Given the description of an element on the screen output the (x, y) to click on. 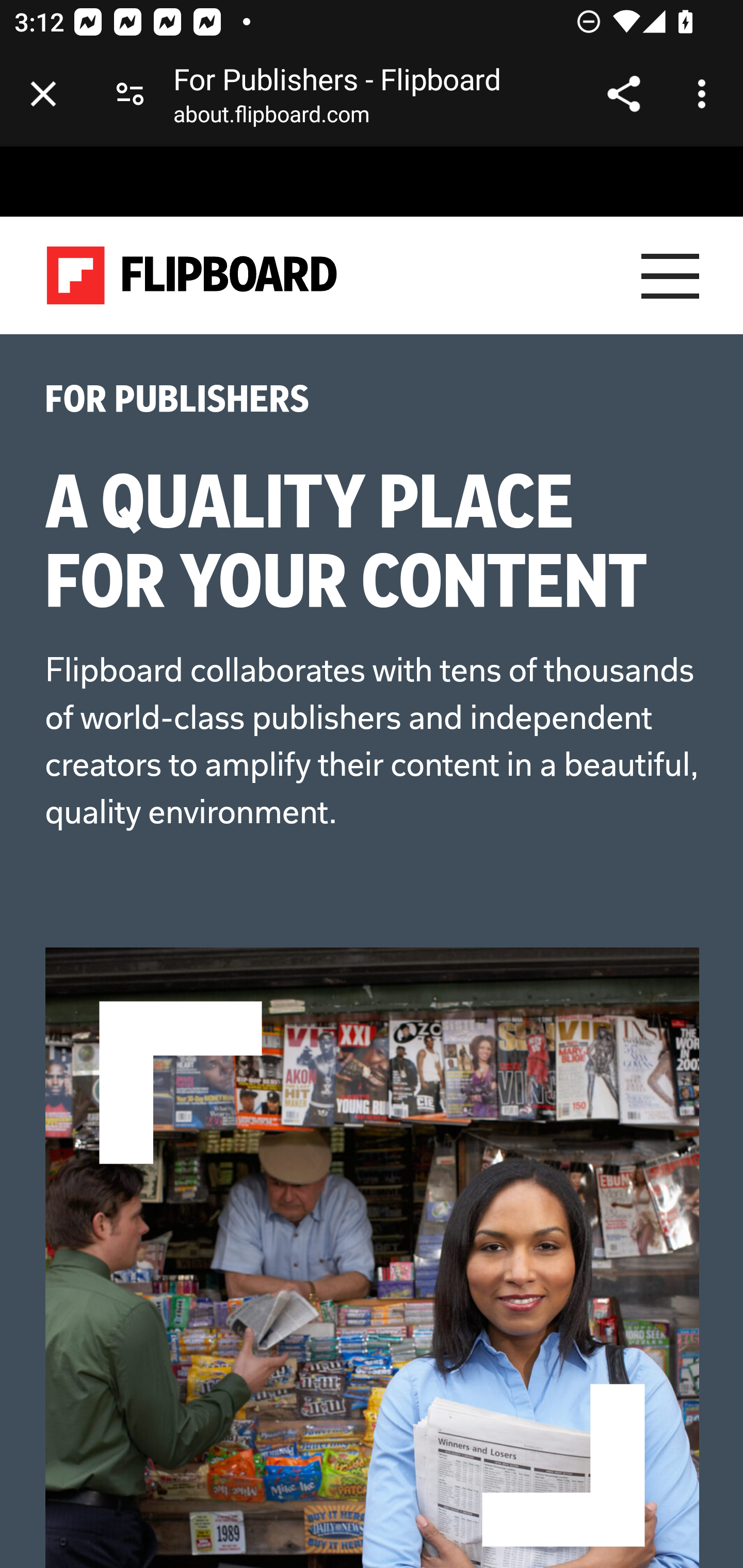
Close tab (43, 93)
Share link address (623, 93)
Customize and control Google Chrome (705, 93)
Connection is secure (129, 93)
about.flipboard.com (271, 117)
Flipboard Logo (192, 276)
